Given the description of an element on the screen output the (x, y) to click on. 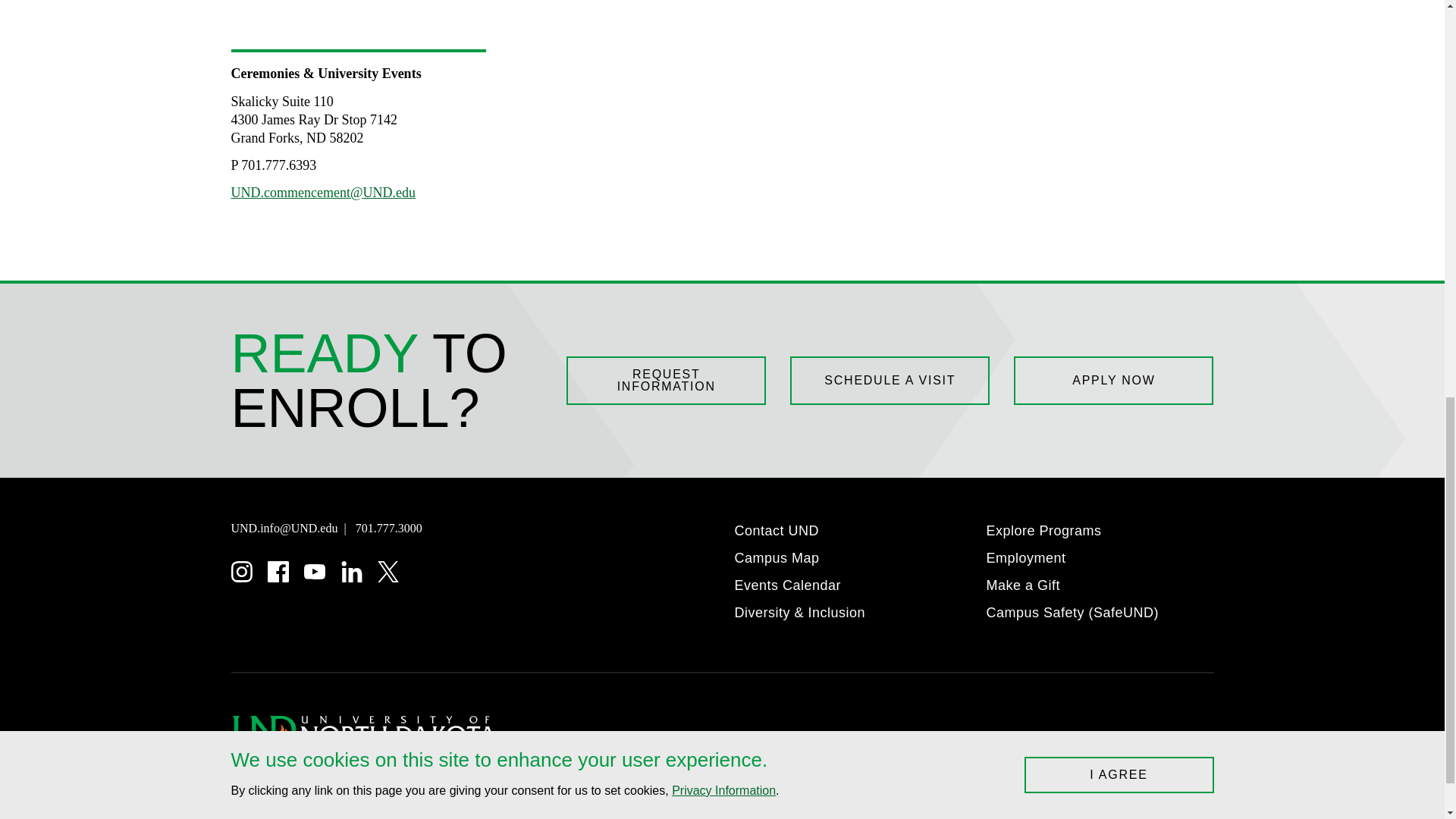
YouTube (314, 571)
X (387, 571)
Facebook (277, 571)
Instagram (240, 571)
LinkedIn (351, 571)
